Given the description of an element on the screen output the (x, y) to click on. 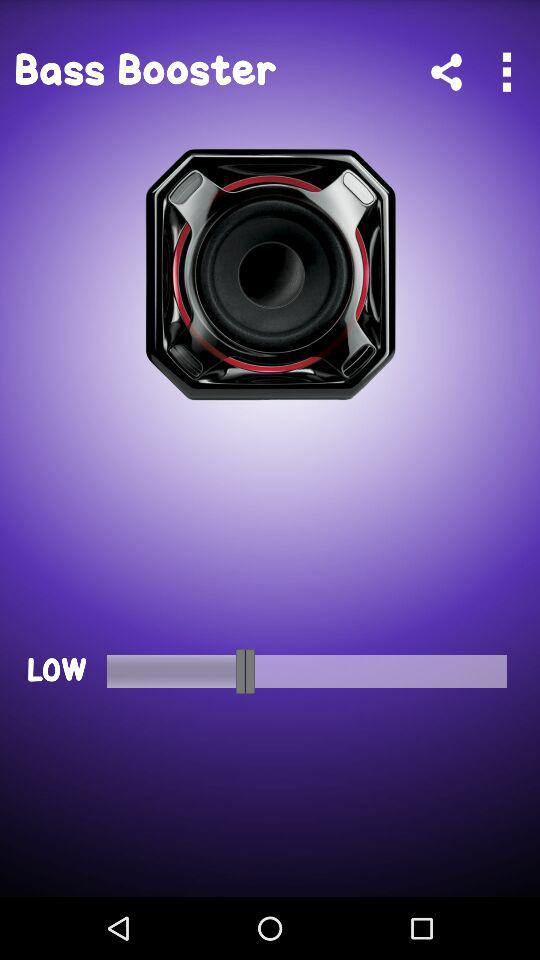
turn on the app next to the bass booster app (446, 72)
